Given the description of an element on the screen output the (x, y) to click on. 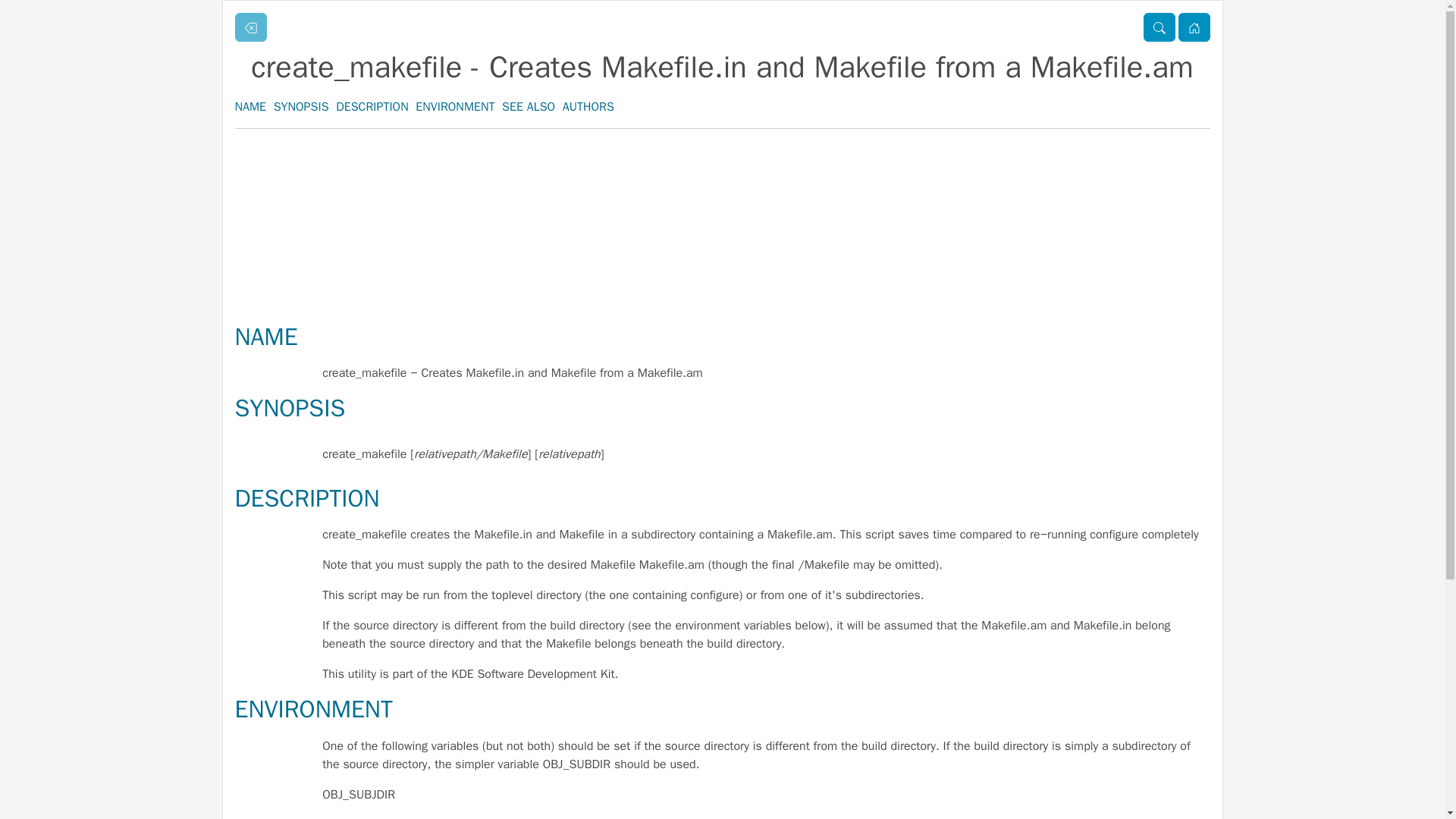
ENVIRONMENT (313, 708)
SEE ALSO (528, 106)
Back home (1193, 27)
Advertisement (721, 276)
ads (721, 185)
NAME (250, 106)
DESCRIPTION (372, 106)
ENVIRONMENT (454, 106)
NAME (266, 336)
Back (250, 27)
SYNOPSIS (301, 106)
AUTHORS (588, 106)
Section 1 (1158, 27)
DESCRIPTION (307, 498)
SYNOPSIS (290, 408)
